Given the description of an element on the screen output the (x, y) to click on. 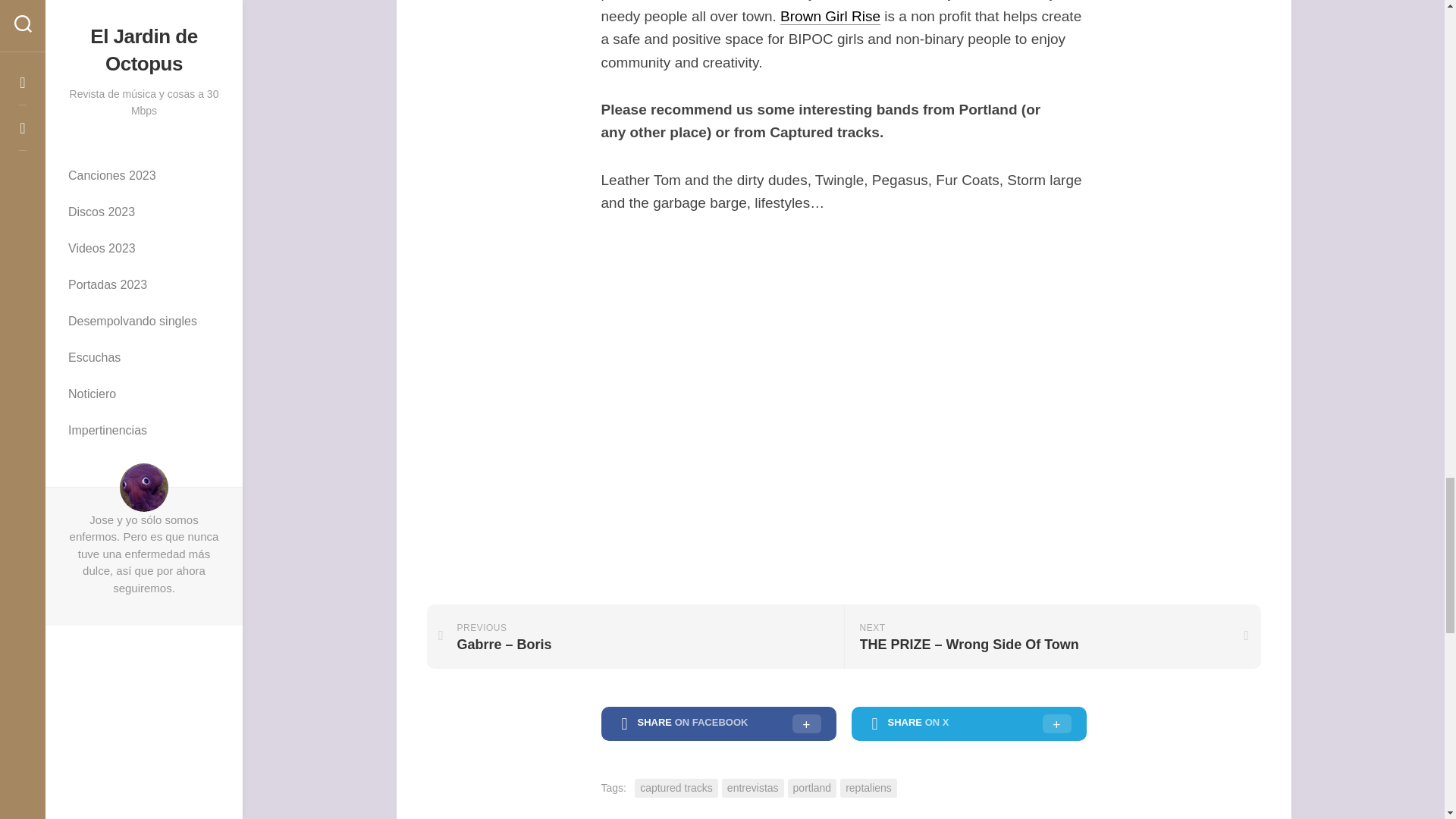
reptaliens (868, 787)
SHARE ON FACEBOOK (717, 724)
captured tracks (675, 787)
portland (812, 787)
Brown Girl Rise (830, 16)
entrevistas (753, 787)
SHARE ON X (968, 724)
